Given the description of an element on the screen output the (x, y) to click on. 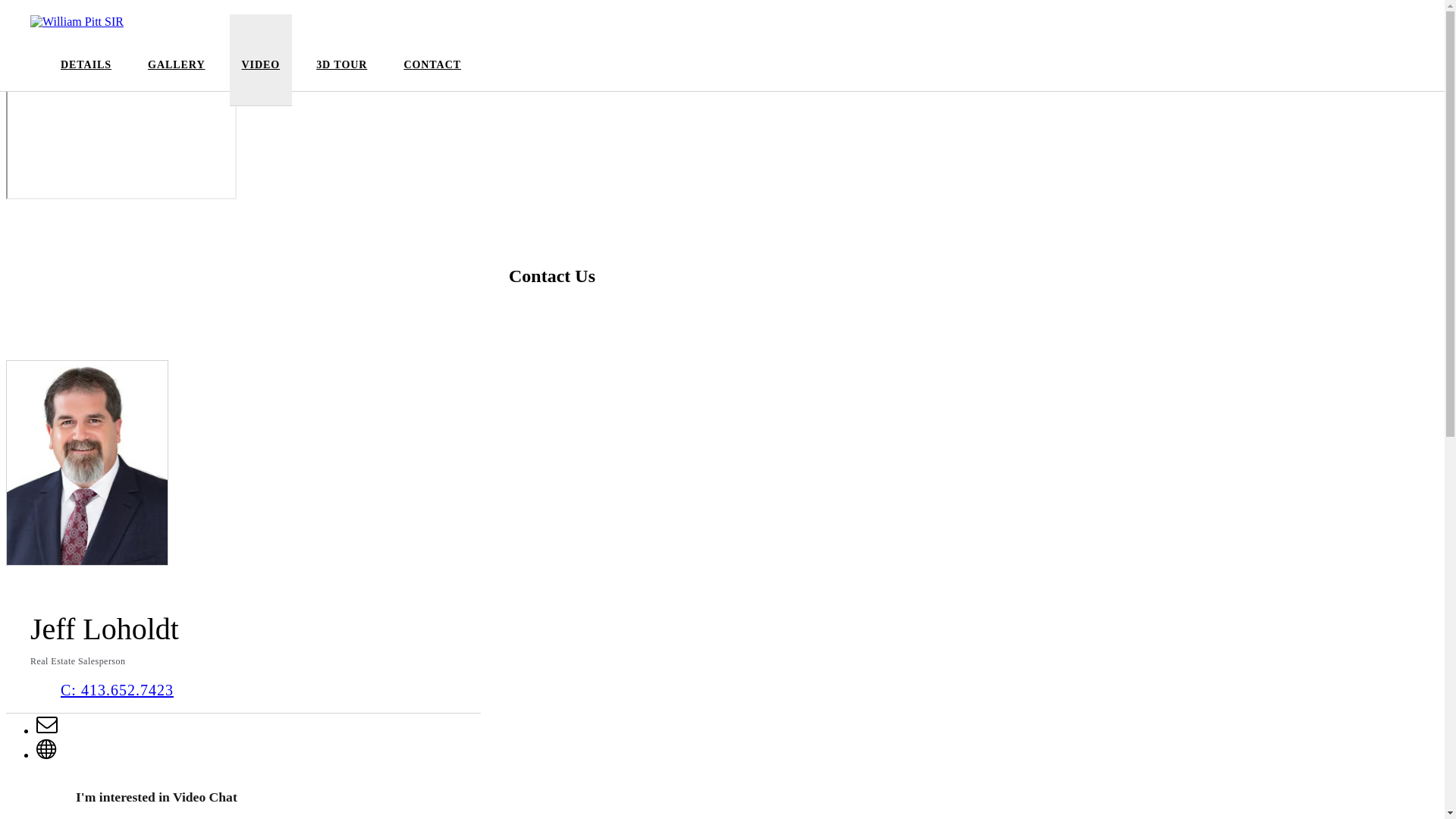
CONTACT Element type: text (432, 73)
3D TOUR Element type: text (341, 73)
C: 413.652.7423 Element type: text (116, 689)
GALLERY Element type: text (175, 73)
DETAILS Element type: text (85, 73)
VIDEO Element type: text (260, 73)
Website Element type: hover (46, 754)
Jeff Loholdt Element type: hover (87, 463)
William Pitt SIR Element type: hover (76, 21)
Email Element type: hover (46, 730)
